Given the description of an element on the screen output the (x, y) to click on. 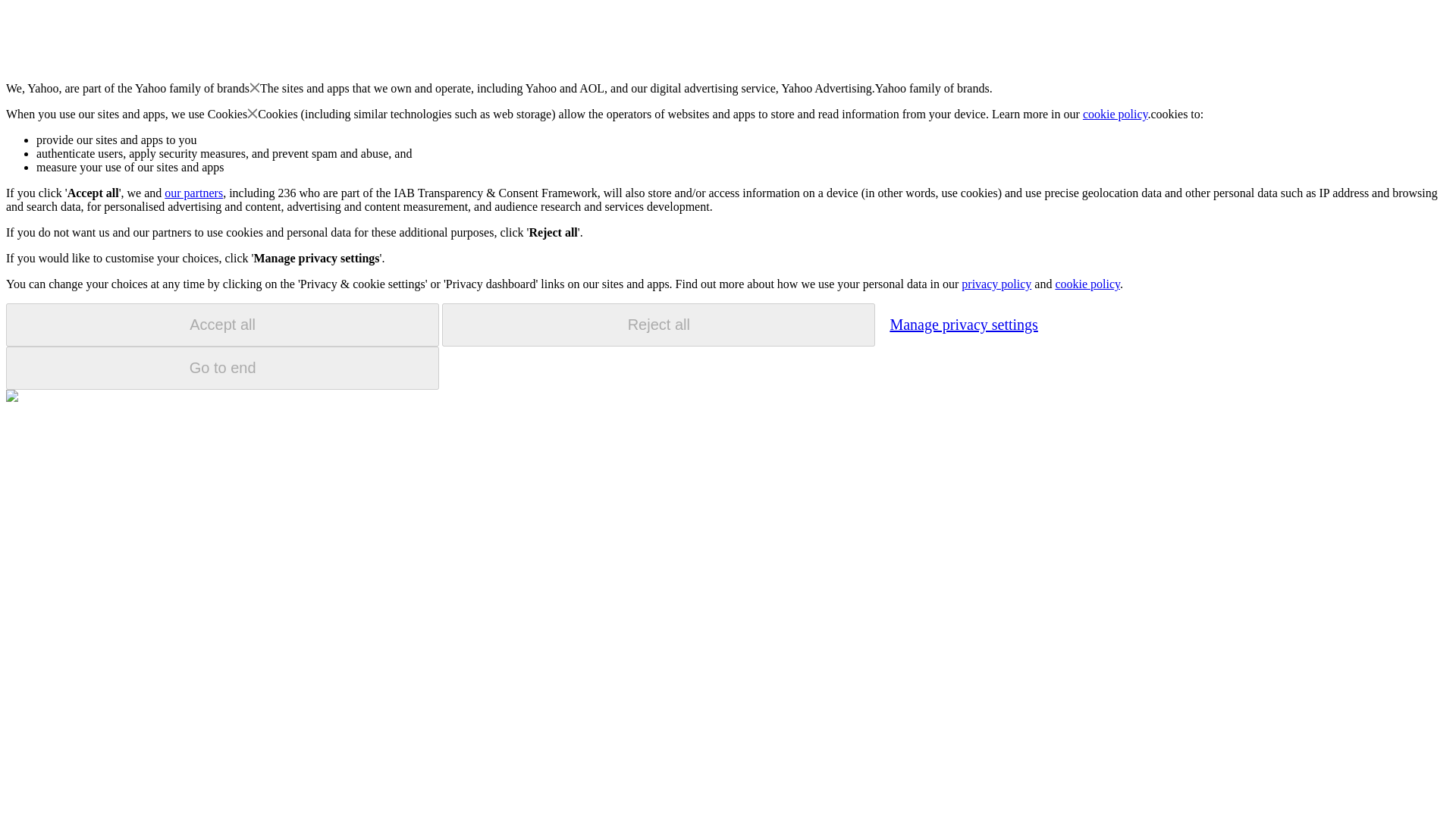
Reject all (658, 324)
privacy policy (995, 283)
Manage privacy settings (963, 323)
cookie policy (1086, 283)
our partners (193, 192)
Accept all (222, 324)
cookie policy (1115, 113)
Go to end (222, 367)
